Given the description of an element on the screen output the (x, y) to click on. 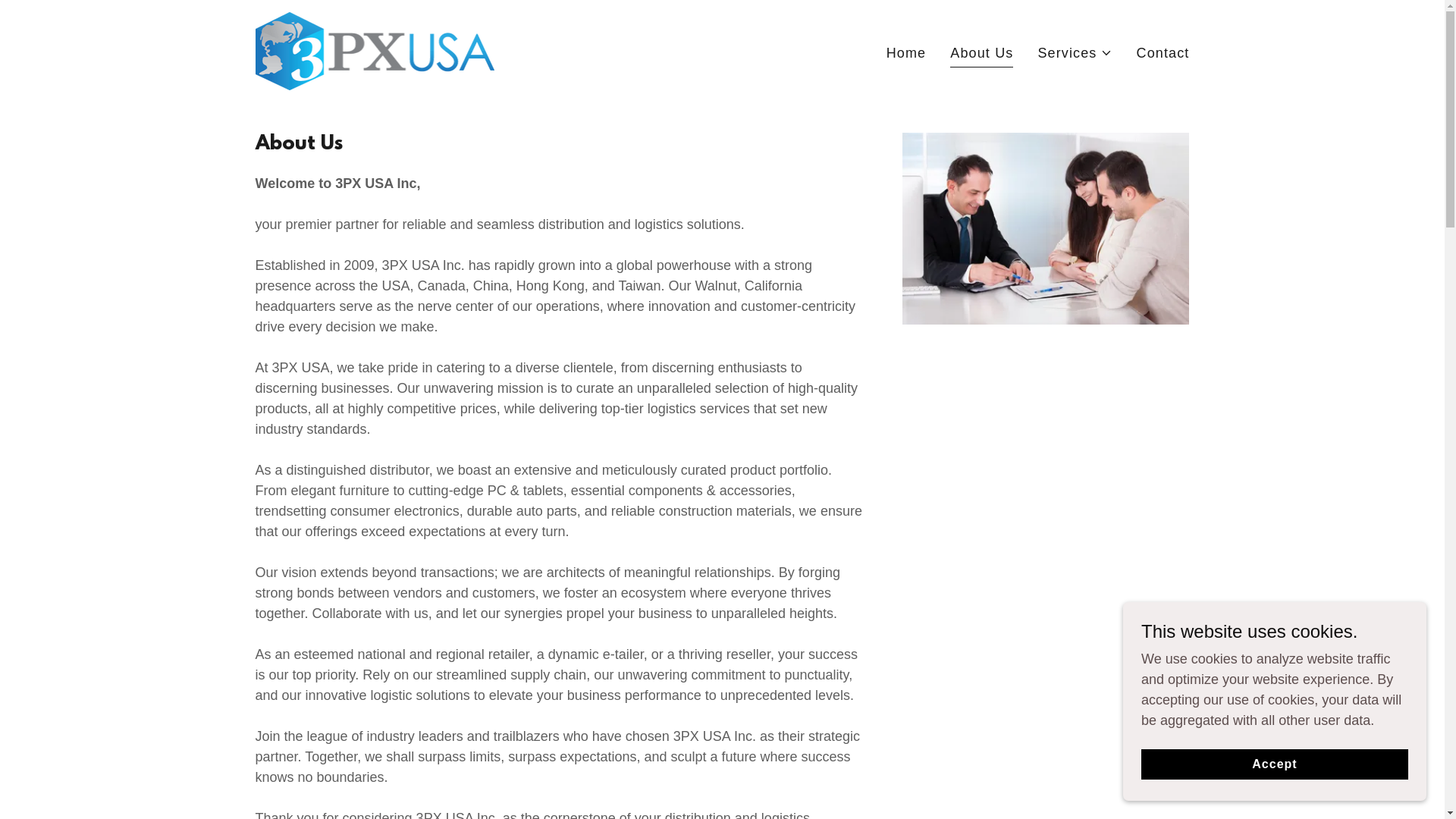
Contact Element type: text (1162, 52)
Accept Element type: text (1274, 764)
Services Element type: text (1074, 52)
About Us Element type: text (981, 54)
Home Element type: text (906, 52)
3px usa inc Element type: hover (374, 49)
